Given the description of an element on the screen output the (x, y) to click on. 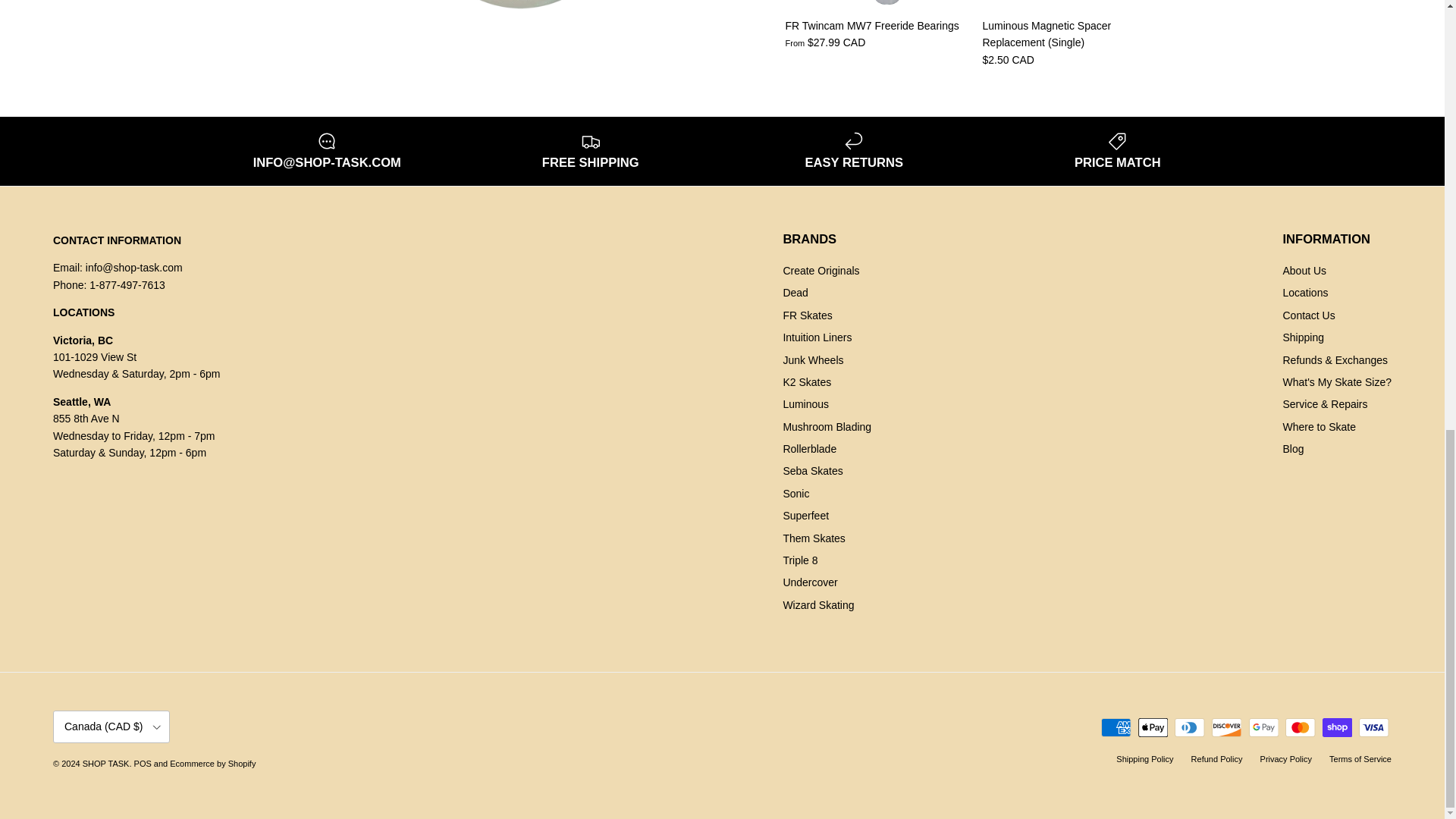
Apple Pay (1152, 727)
Diners Club (1189, 727)
American Express (1115, 727)
Google Pay (1262, 727)
Shop Pay (1337, 727)
Discover (1226, 727)
Mastercard (1299, 727)
